Given the description of an element on the screen output the (x, y) to click on. 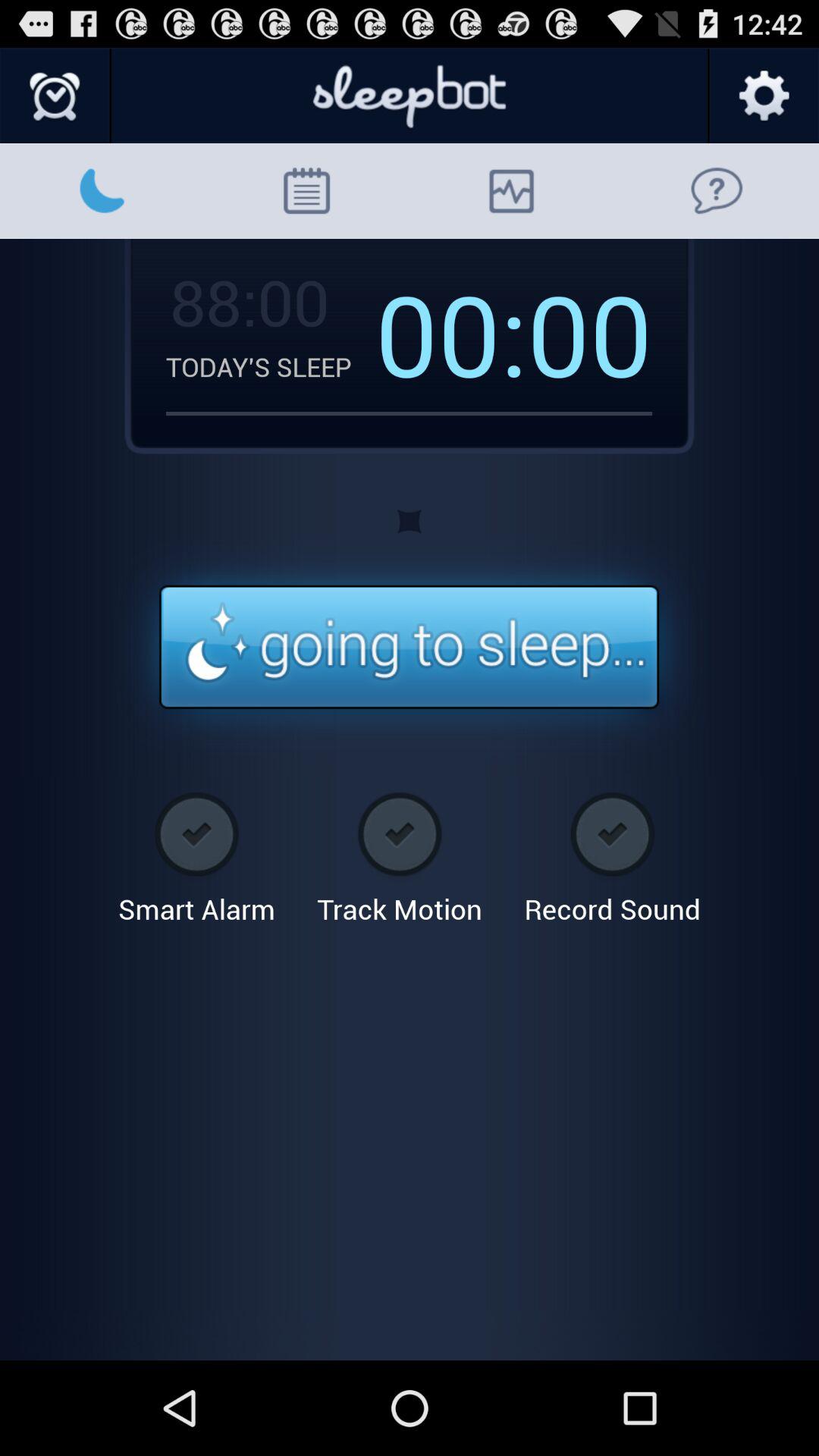
turn off record sound app (612, 852)
